Given the description of an element on the screen output the (x, y) to click on. 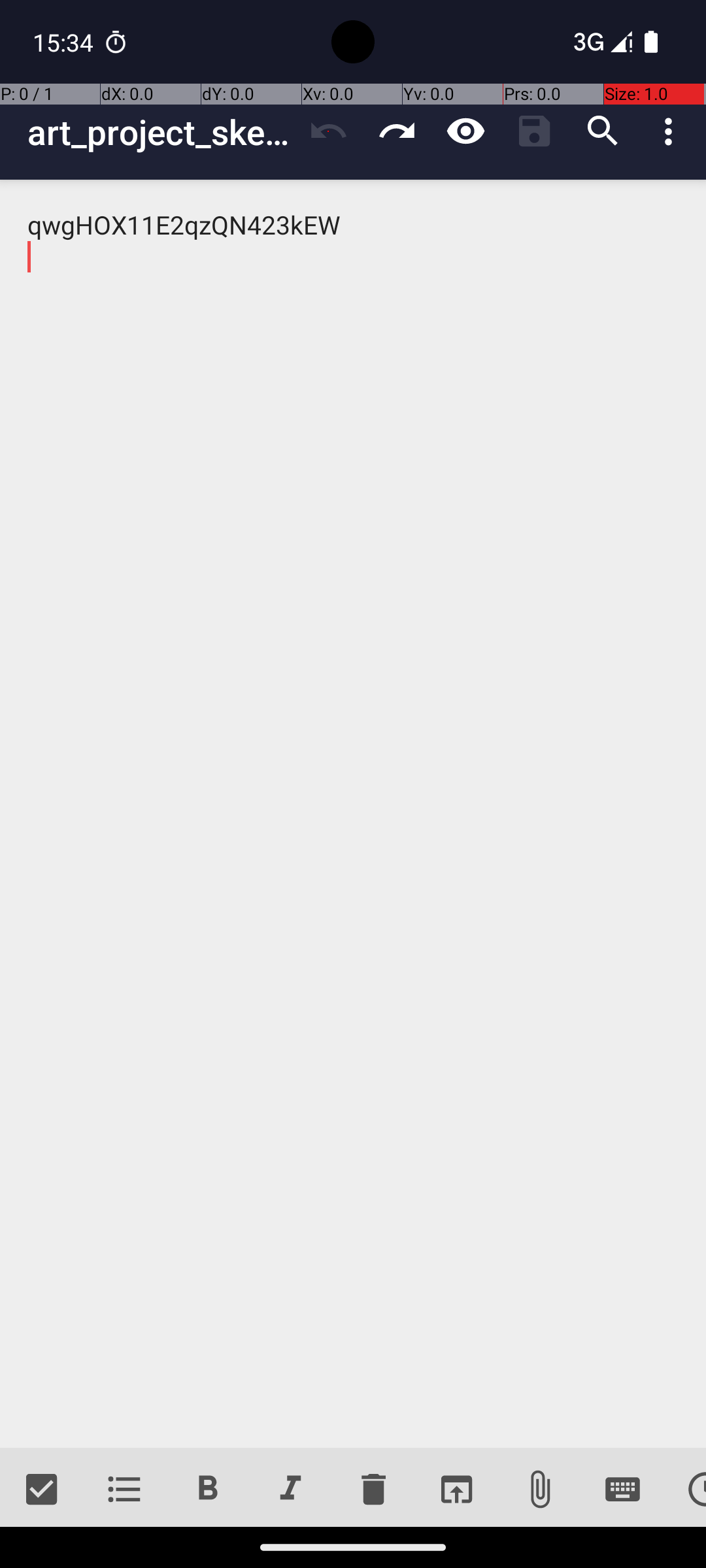
art_project_sketches_2023_01_11 Element type: android.widget.TextView (160, 131)
qwgHOX11E2qzQN423kEW
10/15/23 Element type: android.widget.EditText (353, 813)
